Given the description of an element on the screen output the (x, y) to click on. 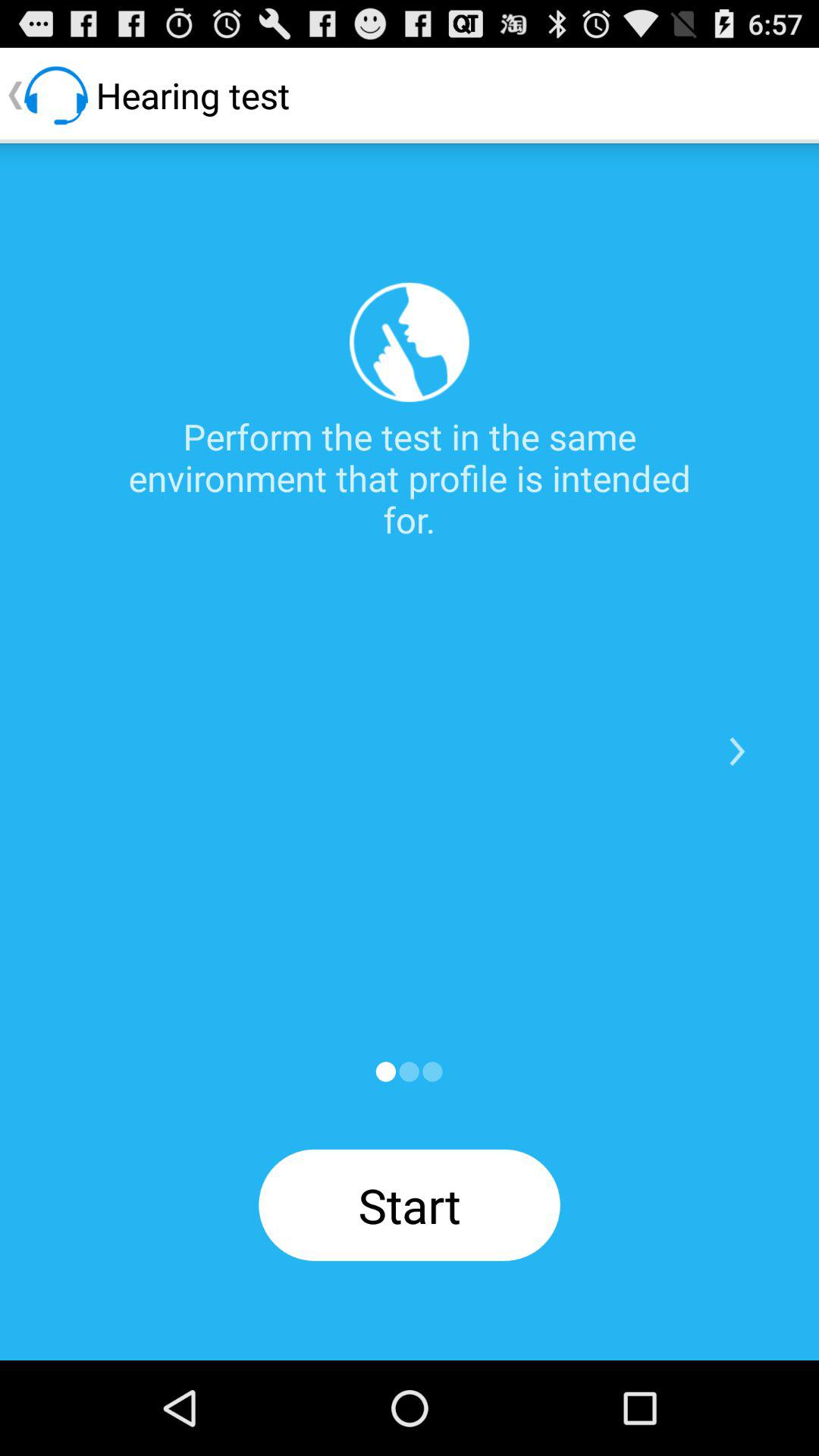
toggle a select option (409, 1071)
